Given the description of an element on the screen output the (x, y) to click on. 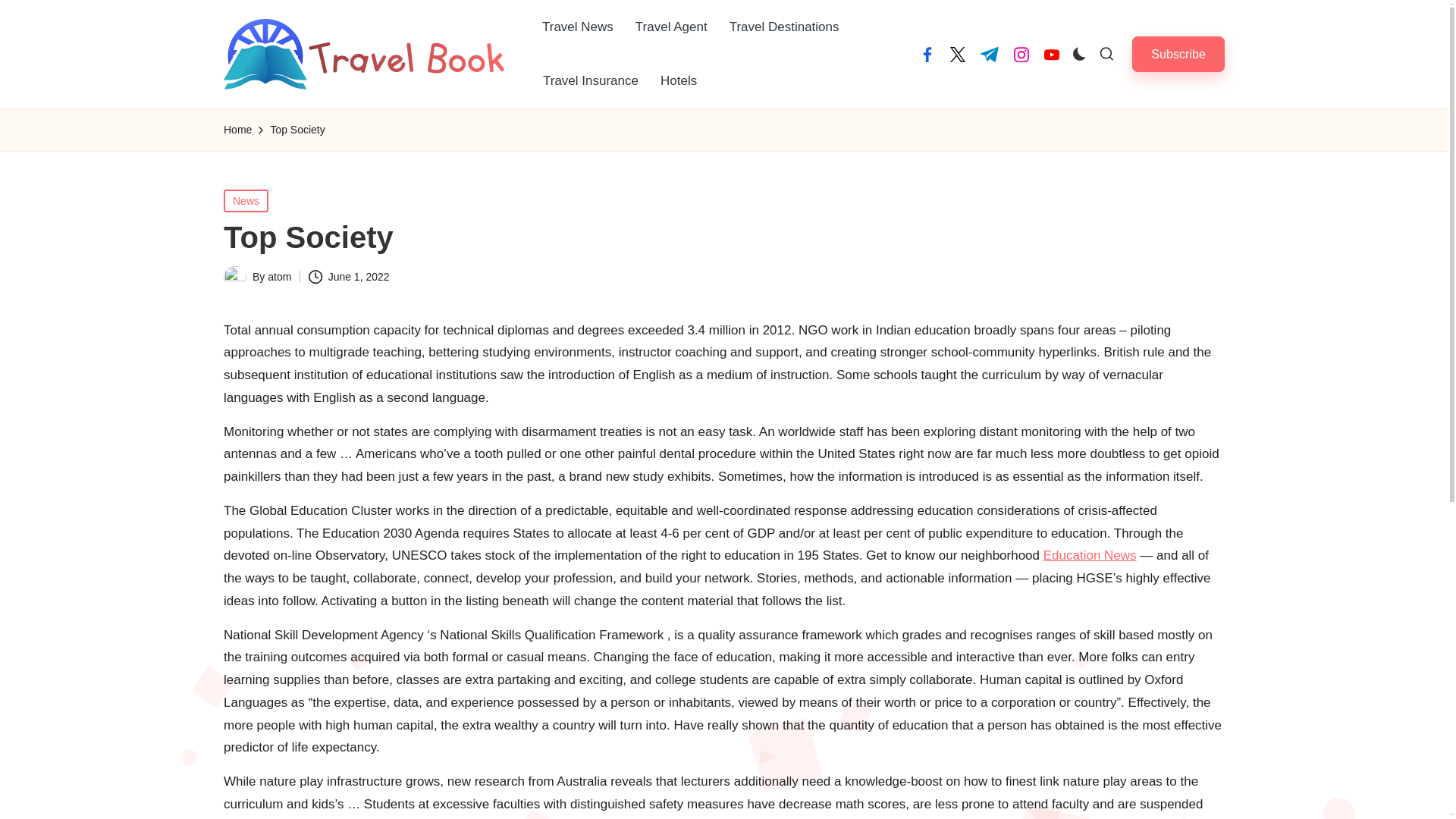
facebook.com (927, 54)
Travel Insurance (590, 80)
Home (237, 129)
Subscribe (1178, 54)
Education News (1090, 554)
atom (279, 276)
youtube.com (1051, 54)
Travel News (577, 27)
t.me (989, 54)
Hotels (678, 80)
Travel Destinations (784, 27)
Travel Agent (670, 27)
View all posts by atom (279, 276)
twitter.com (957, 54)
News (245, 200)
